Given the description of an element on the screen output the (x, y) to click on. 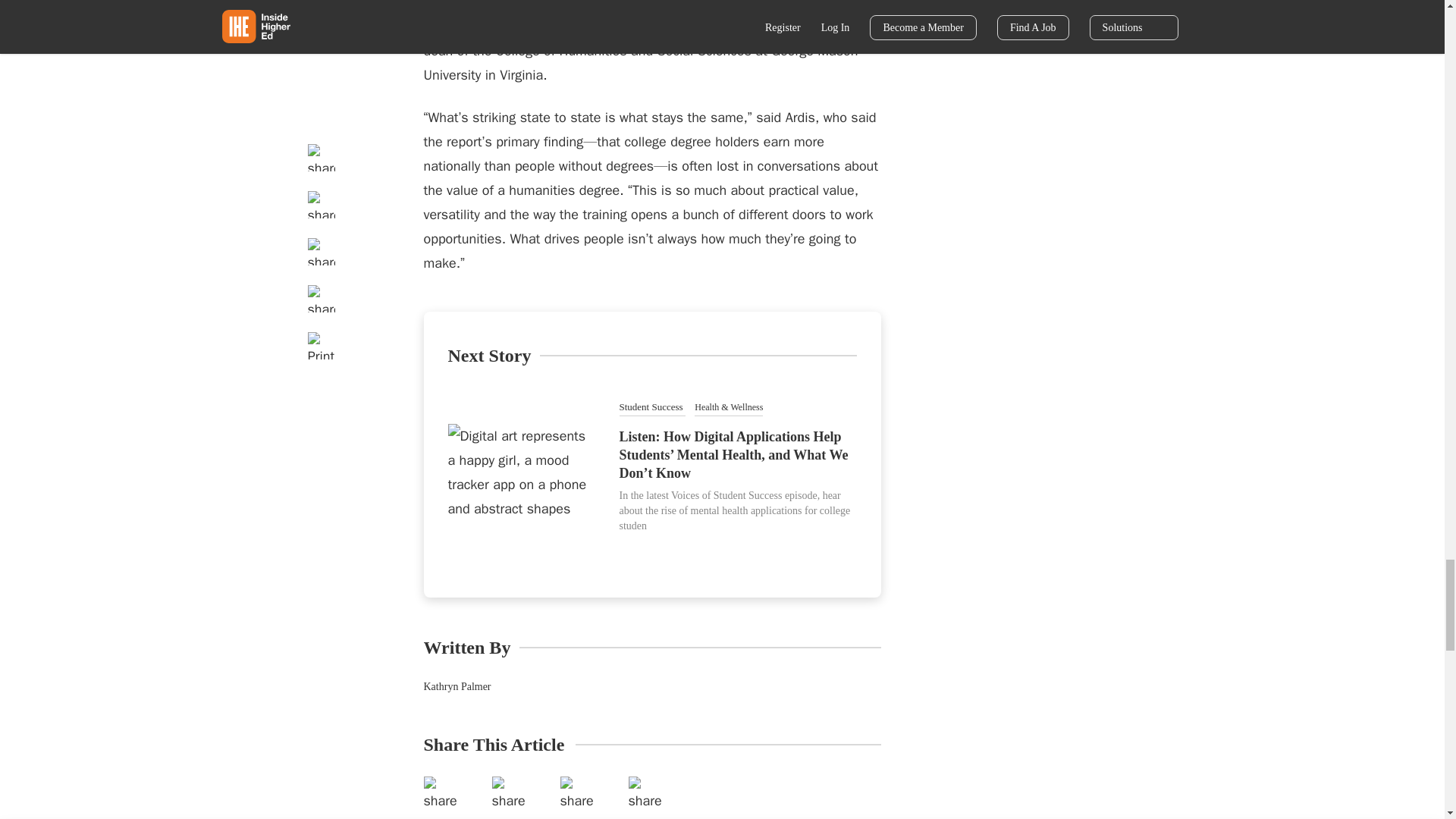
share to facebook (445, 797)
